Given the description of an element on the screen output the (x, y) to click on. 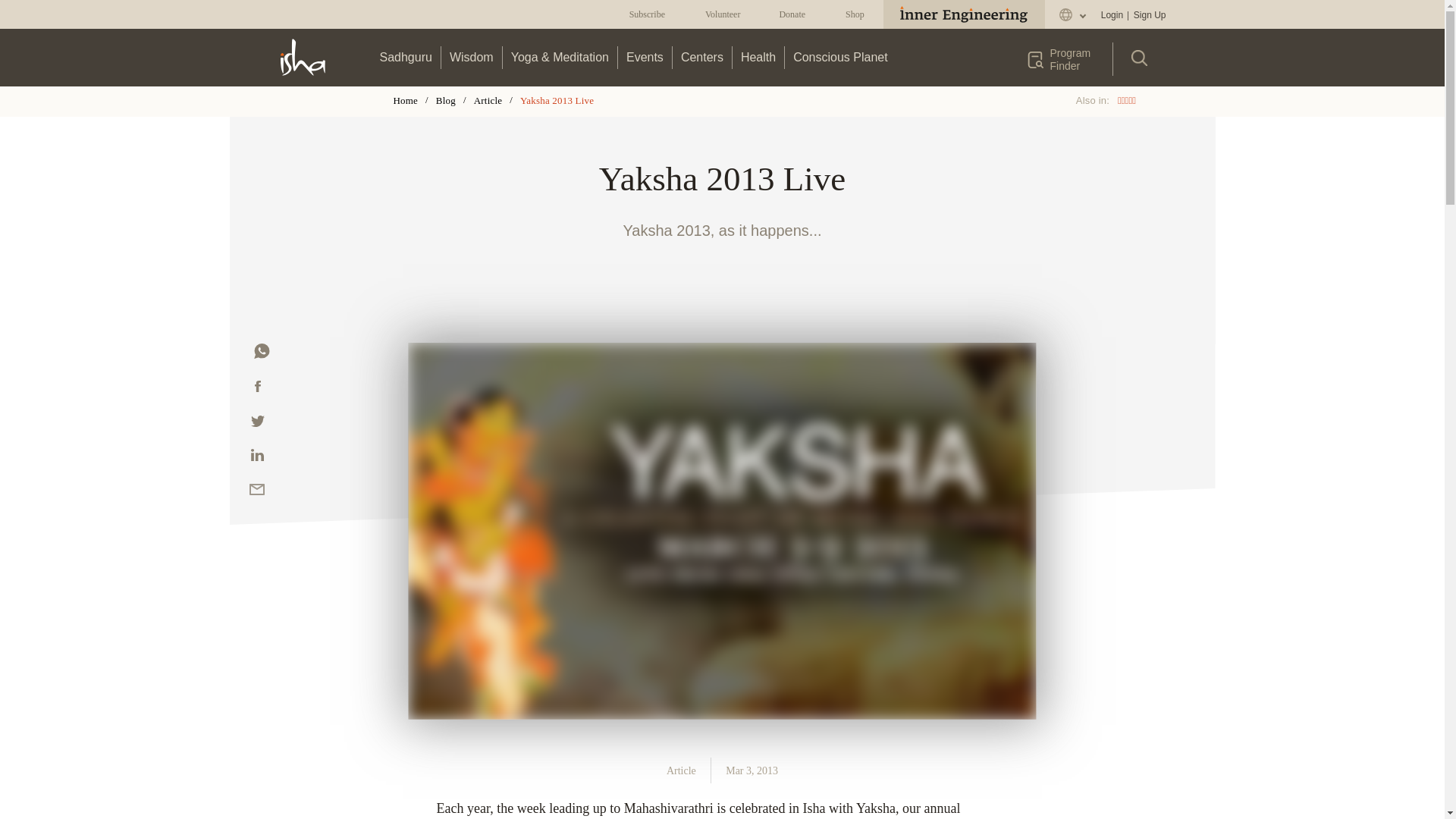
Login (1112, 15)
Sign Up (1149, 15)
Sadhguru (406, 56)
Wisdom (471, 56)
